Given the description of an element on the screen output the (x, y) to click on. 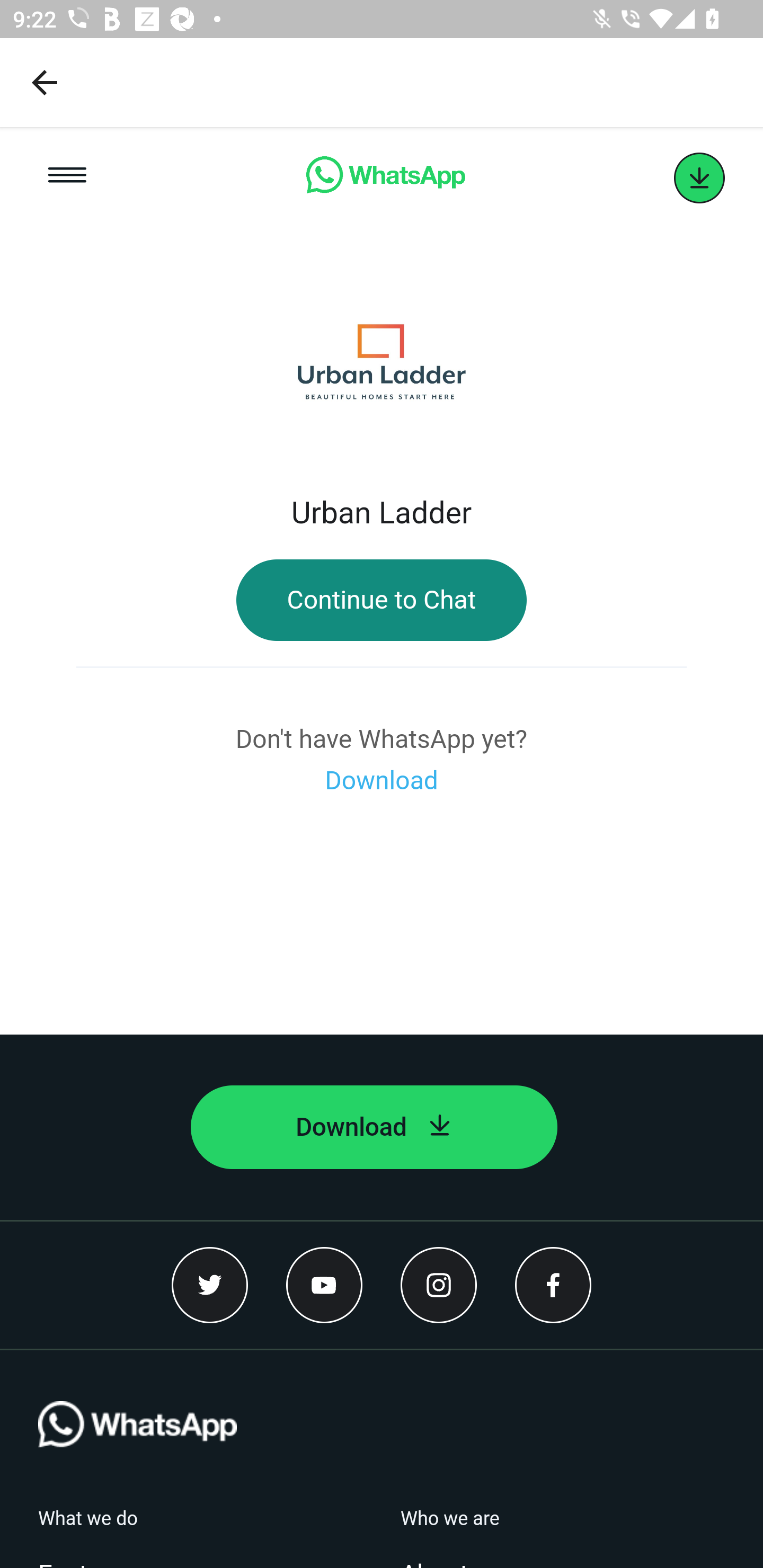
Navigate up (44, 82)
Open mobile menu (67, 177)
details?id=com (698, 177)
WhatsApp Main Page (385, 177)
Continue to Chat (381, 600)
Download (381, 780)
Download (373, 1127)
Twitter (209, 1284)
Youtube (324, 1284)
Instagram (438, 1284)
Facebook (553, 1284)
WhatsApp Main Logo (137, 1453)
